Given the description of an element on the screen output the (x, y) to click on. 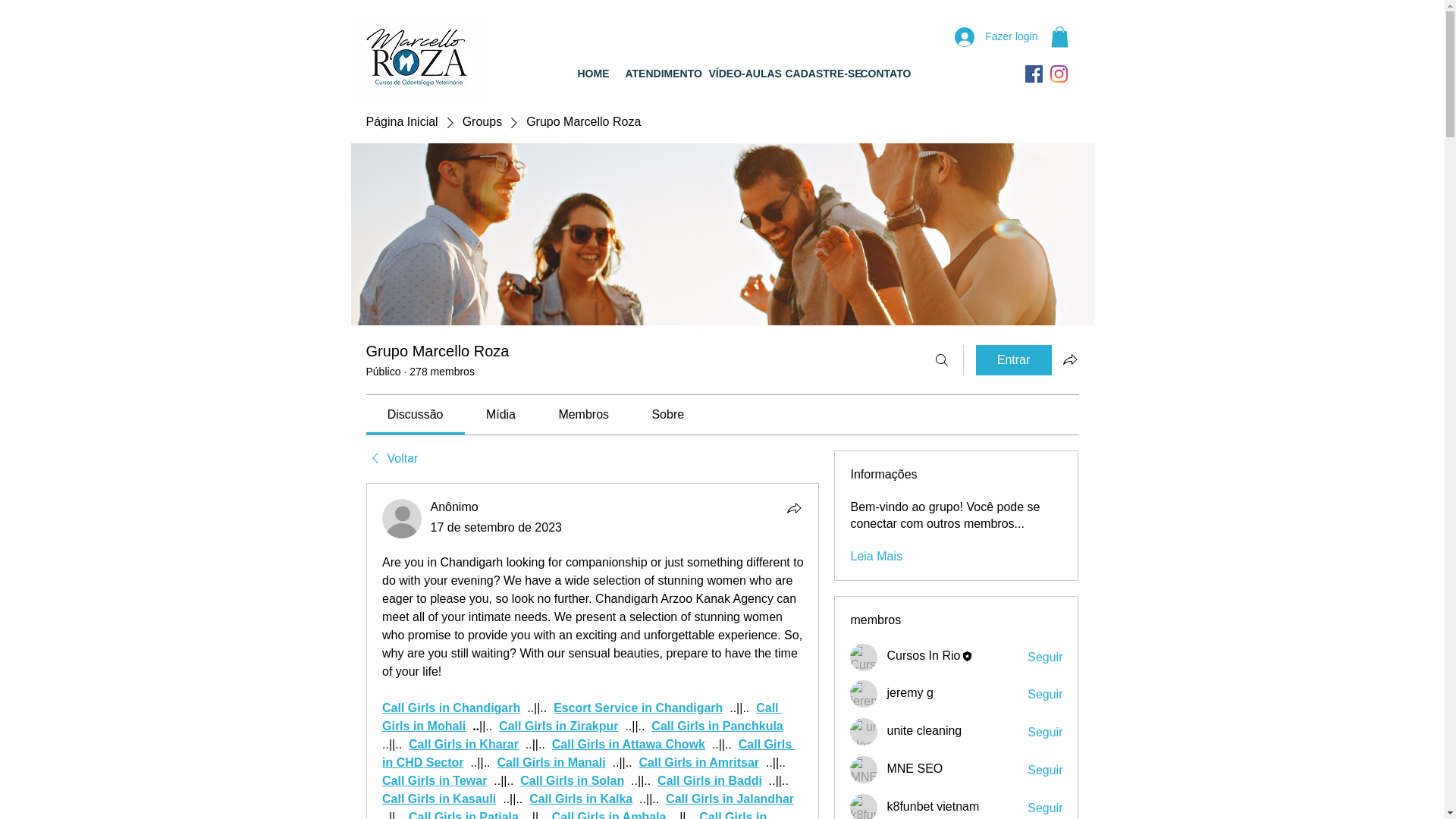
17 de setembro de 2023 (496, 526)
Call Girls in Panchkula (716, 725)
unite cleaning (923, 730)
Call Girls in Patiala (462, 814)
Fazer login (995, 36)
Call Girls in Zirakpur (558, 725)
Call Girls in Solan (571, 780)
Groups (482, 121)
k8funbet vietnam (932, 806)
MNE SEO (863, 768)
